Given the description of an element on the screen output the (x, y) to click on. 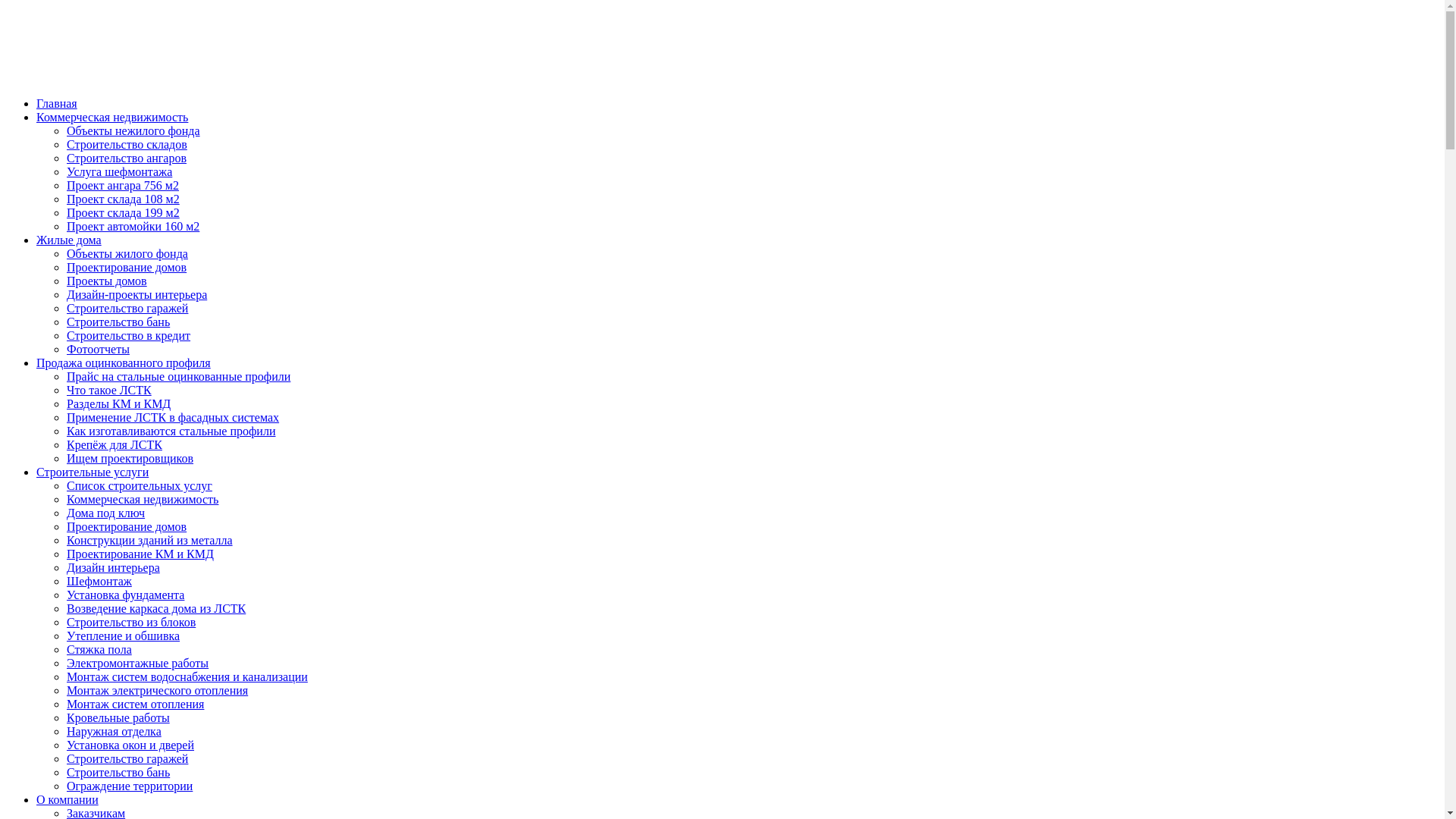
arsenal.by Element type: hover (722, 110)
